Given the description of an element on the screen output the (x, y) to click on. 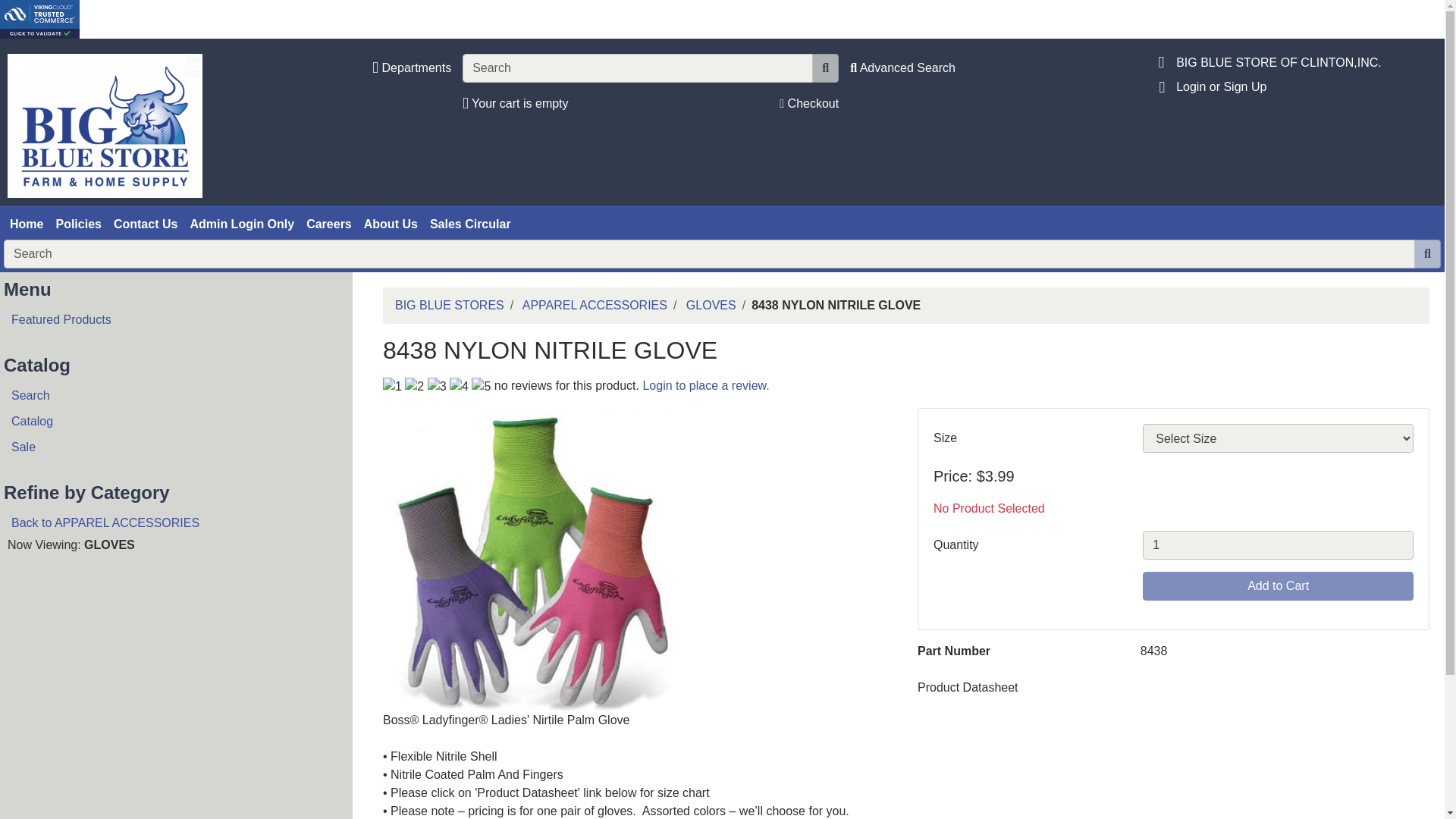
Shop Departments (411, 67)
1 (1277, 544)
Sale (170, 447)
Not rated yet! (391, 386)
View Shopping Cart (515, 103)
Your cart is empty (515, 103)
Site Menu (1161, 87)
Not rated yet! (480, 386)
Departments (411, 67)
Not rated yet! (437, 386)
